Given the description of an element on the screen output the (x, y) to click on. 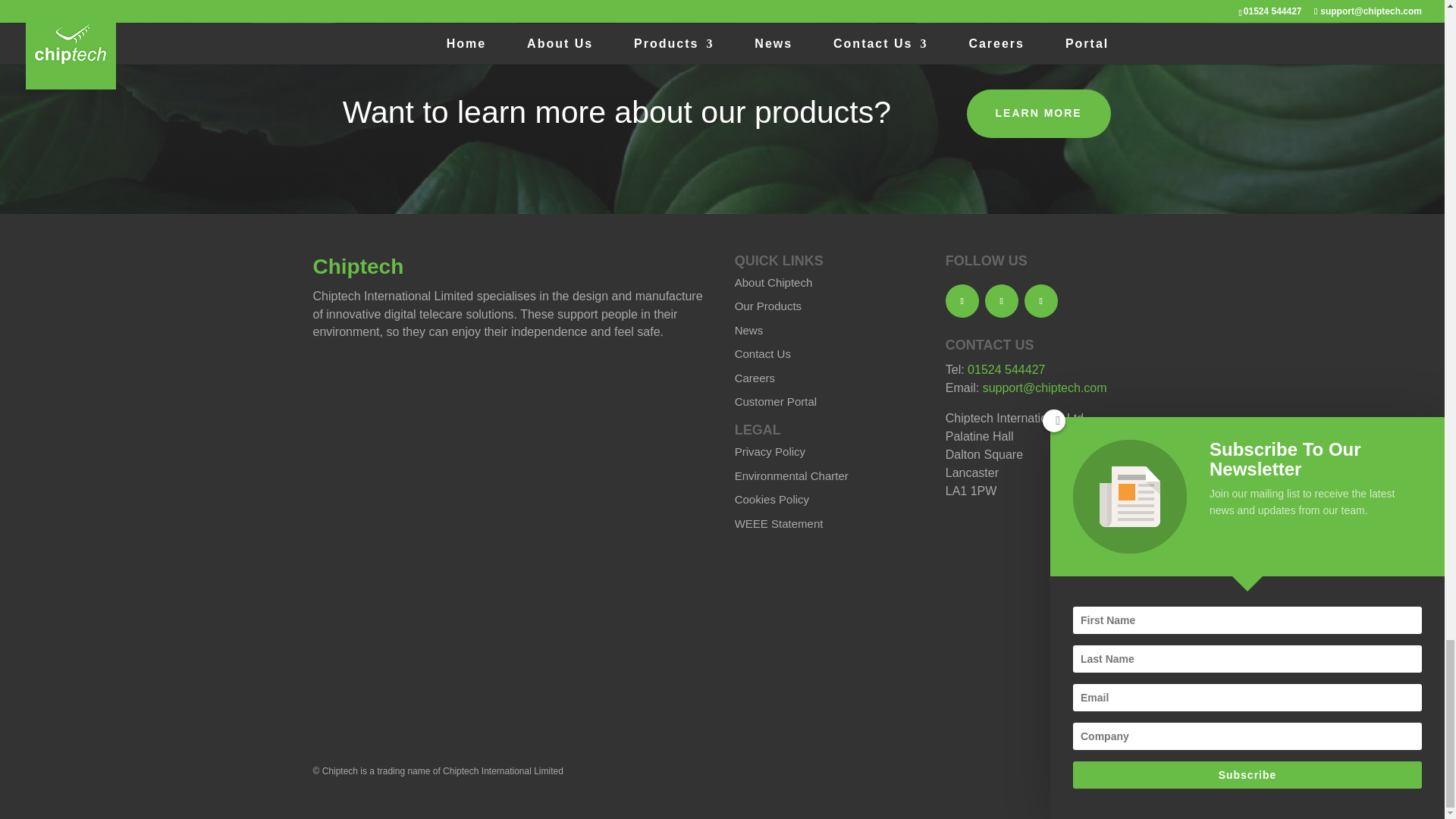
Follow on X (1001, 300)
Follow on Facebook (961, 300)
Follow on LinkedIn (1041, 300)
